Given the description of an element on the screen output the (x, y) to click on. 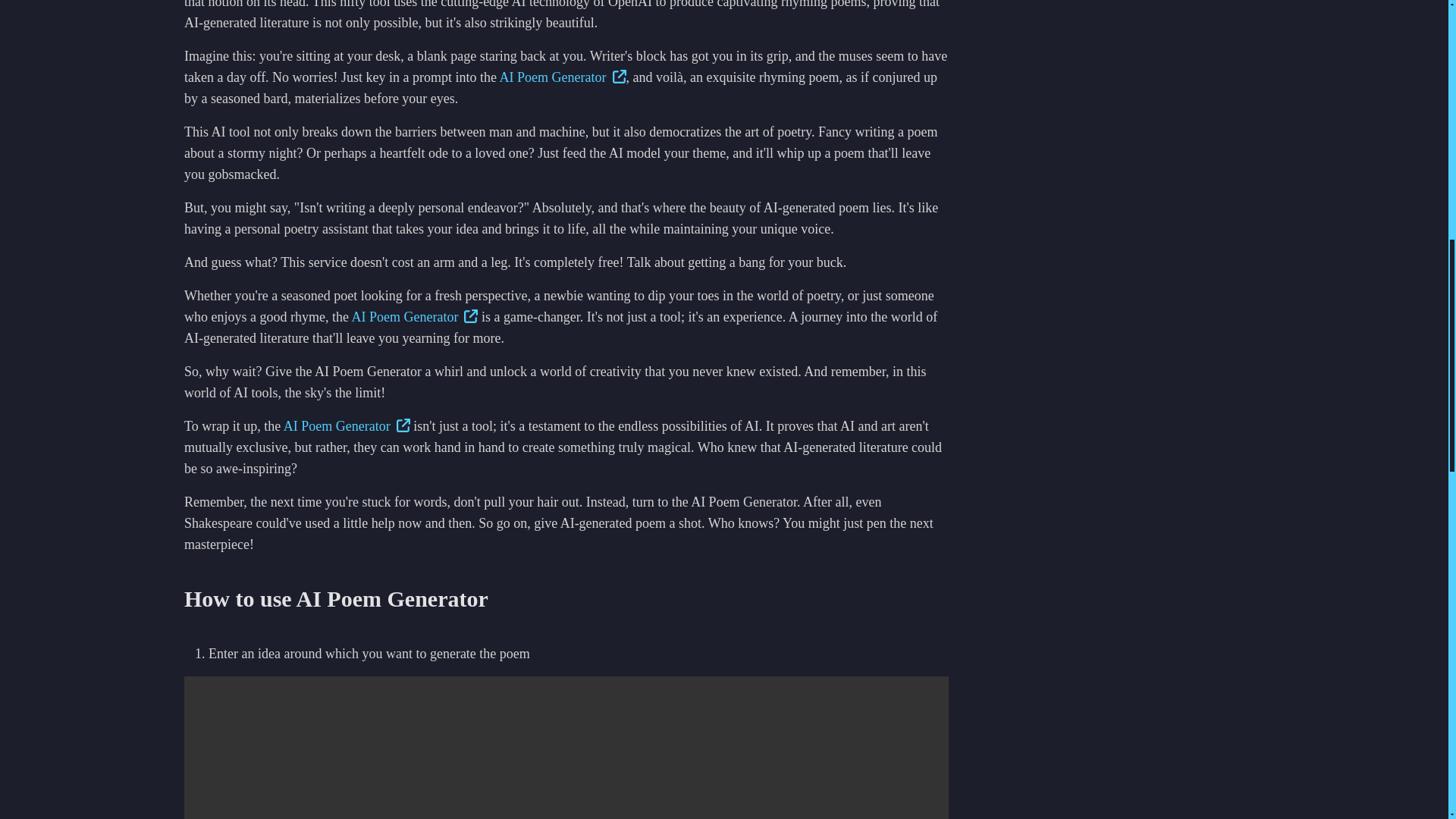
AI Poem Generator (346, 426)
AI Poem Generator (413, 316)
AI Poem Generator (562, 77)
